Given the description of an element on the screen output the (x, y) to click on. 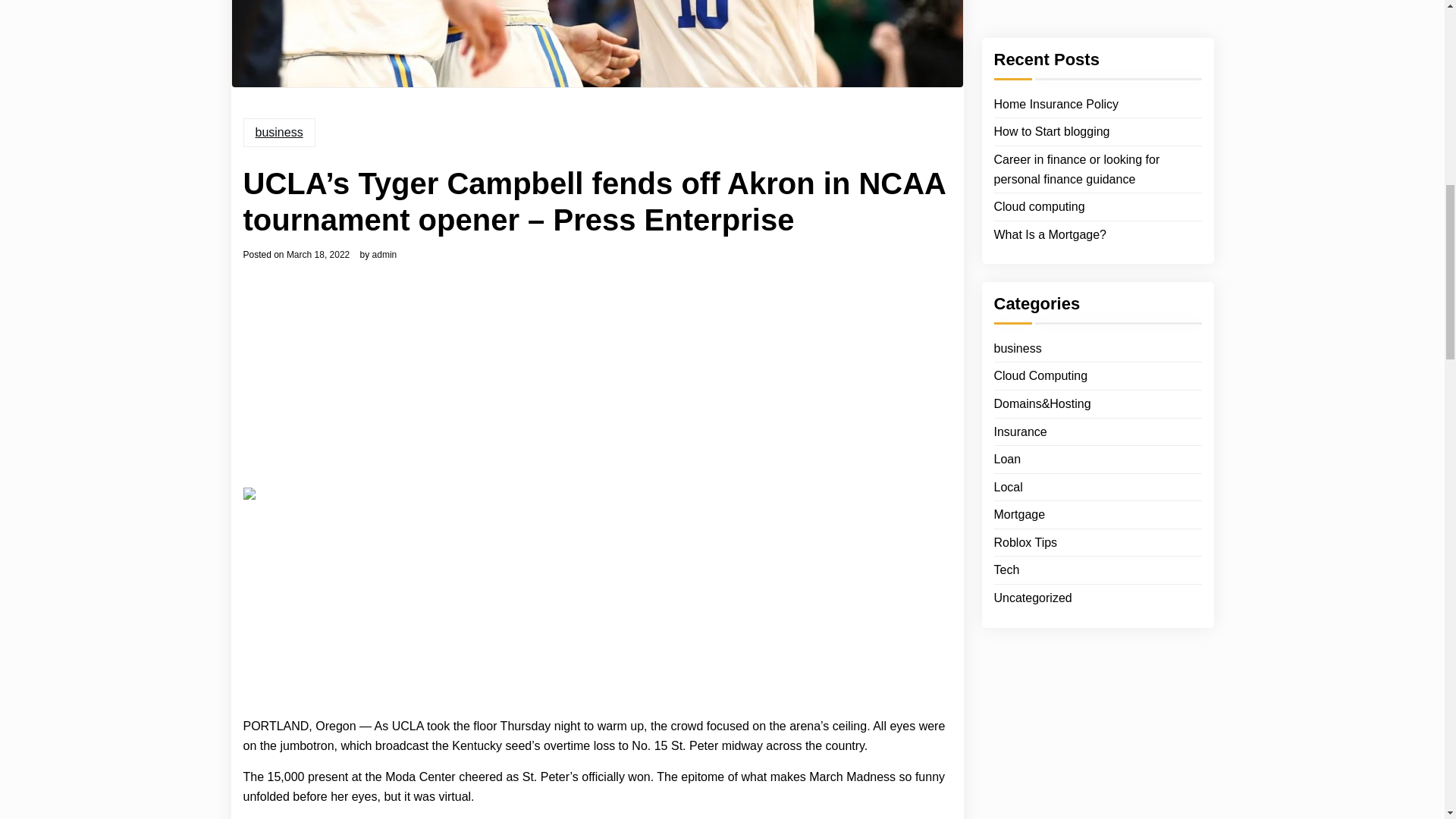
business (278, 132)
March 18, 2022 (317, 254)
admin (384, 254)
